Given the description of an element on the screen output the (x, y) to click on. 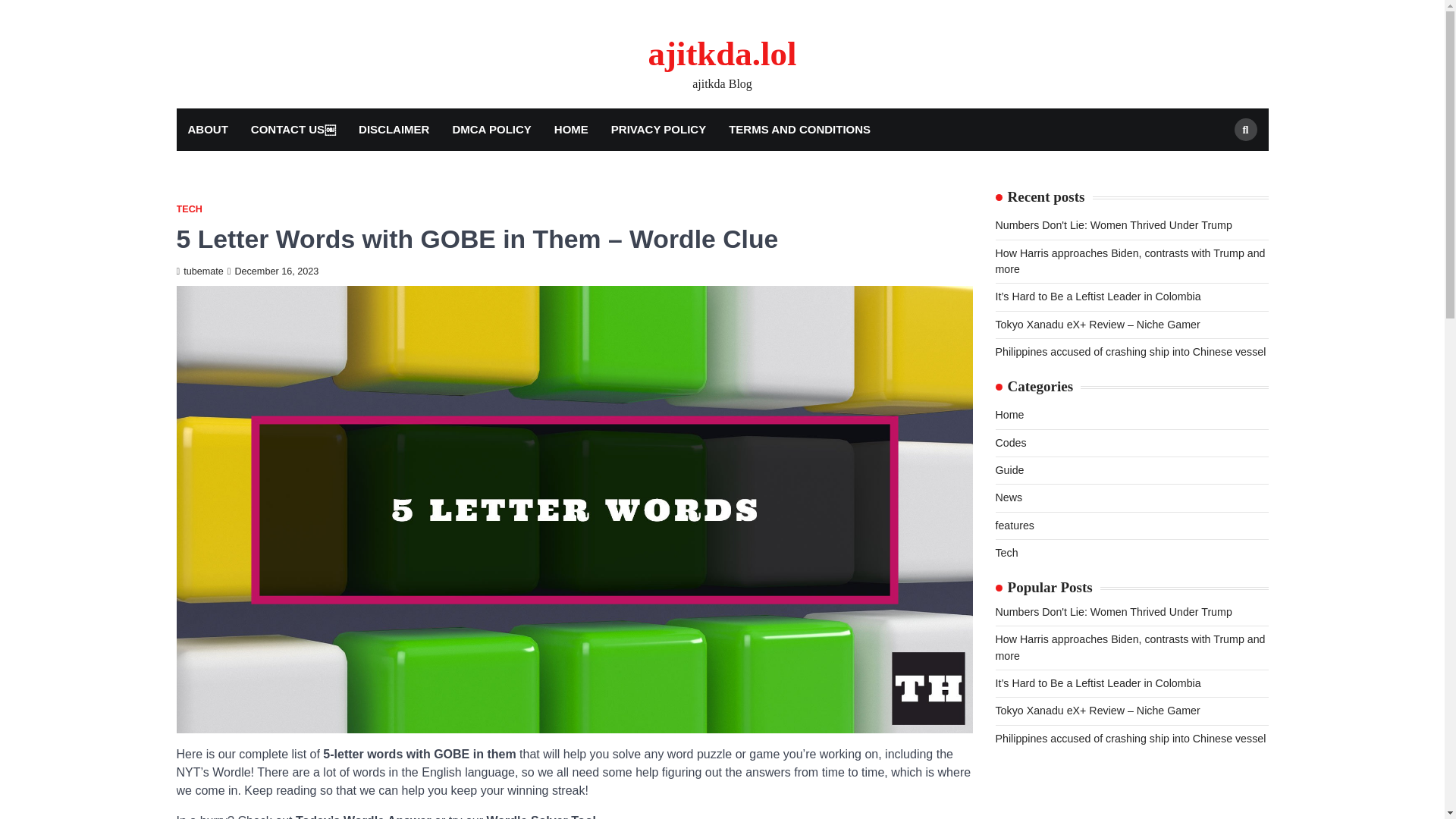
TECH (189, 209)
Home (1008, 414)
Numbers Don't Lie: Women Thrived Under Trump (1112, 612)
DISCLAIMER (394, 129)
Numbers Don't Lie: Women Thrived Under Trump (1112, 224)
Guide (1008, 469)
TERMS AND CONDITIONS (799, 129)
tubemate (199, 271)
News (1008, 497)
December 16, 2023 (272, 271)
